Given the description of an element on the screen output the (x, y) to click on. 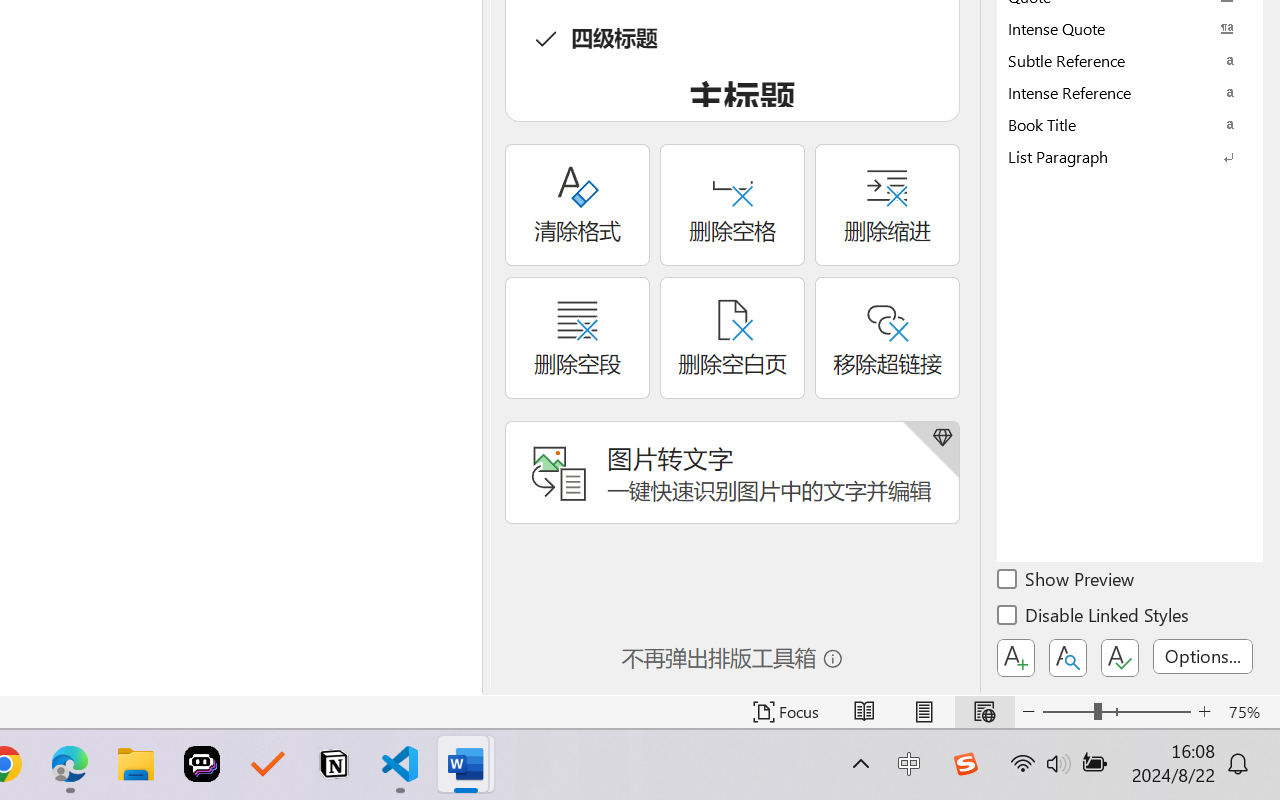
Class: NetUIImage (1116, 156)
Show Preview (1067, 582)
